Given the description of an element on the screen output the (x, y) to click on. 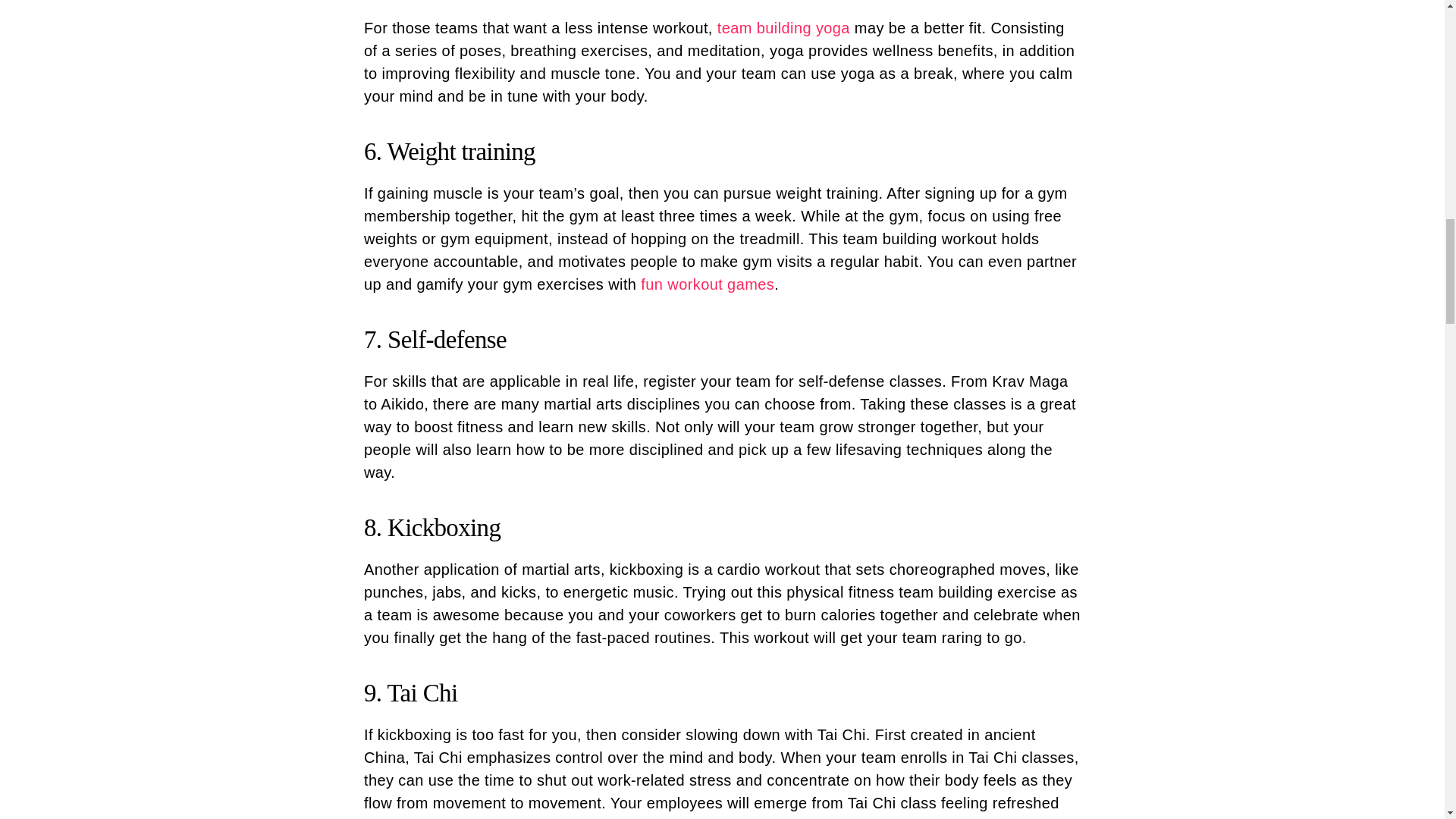
fun workout games (707, 284)
team building yoga (783, 27)
